Given the description of an element on the screen output the (x, y) to click on. 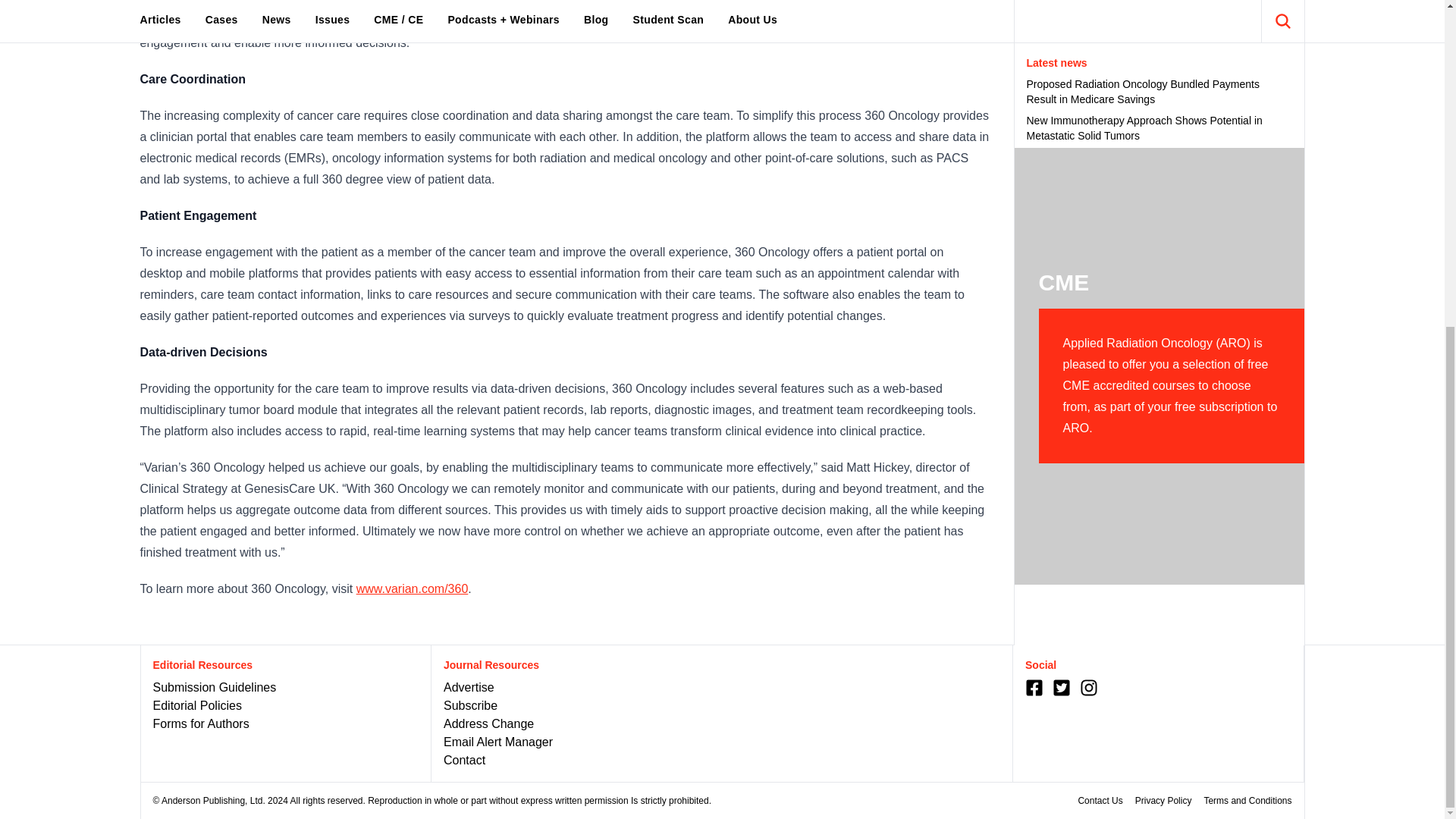
Contact (464, 759)
Terms and Conditions (1247, 800)
Editorial Policies (196, 705)
Address Change (489, 723)
Forms for Authors (200, 723)
Privacy Policy (1163, 800)
Contact Us (1099, 800)
Subscribe (470, 705)
Submission Guidelines (214, 686)
Advertise (469, 686)
Email Alert Manager (498, 741)
ASTRO Announces 2024 Fellows (1159, 120)
